Given the description of an element on the screen output the (x, y) to click on. 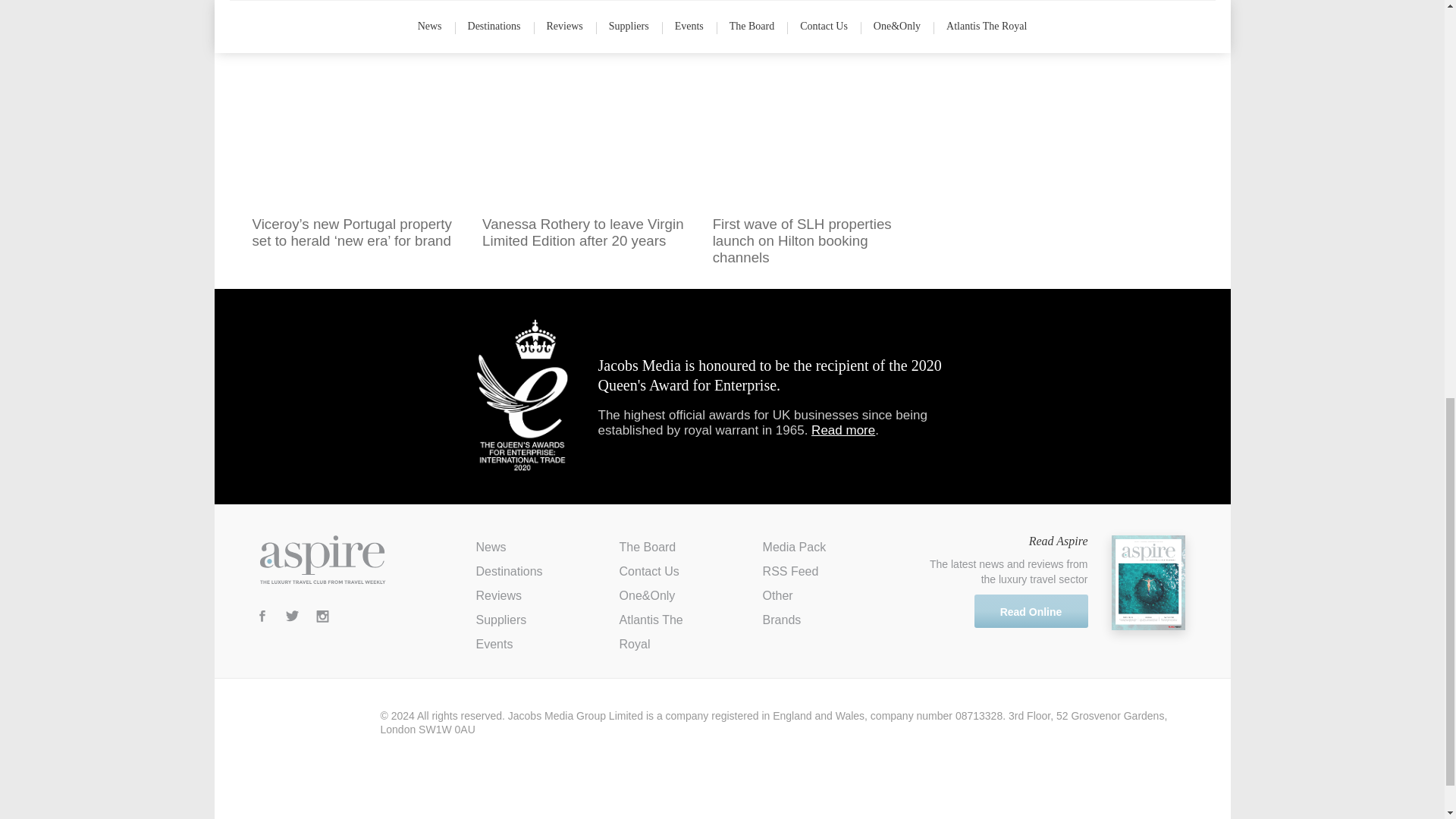
News (491, 546)
Aspire - The Luxury Travel Club from Travel Weekly (322, 559)
Read more (842, 430)
